Given the description of an element on the screen output the (x, y) to click on. 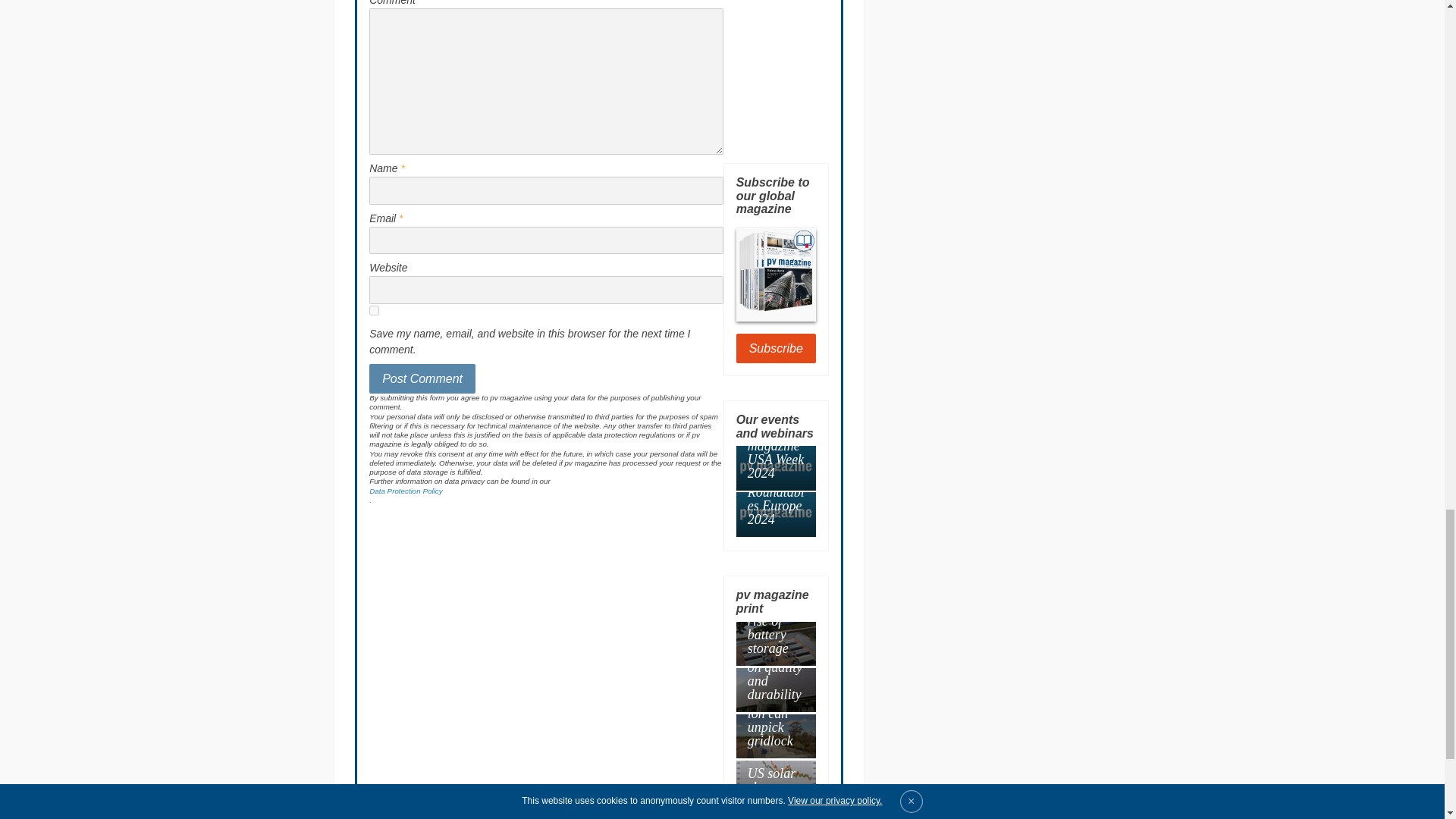
Post Comment (422, 378)
yes (373, 310)
